Given the description of an element on the screen output the (x, y) to click on. 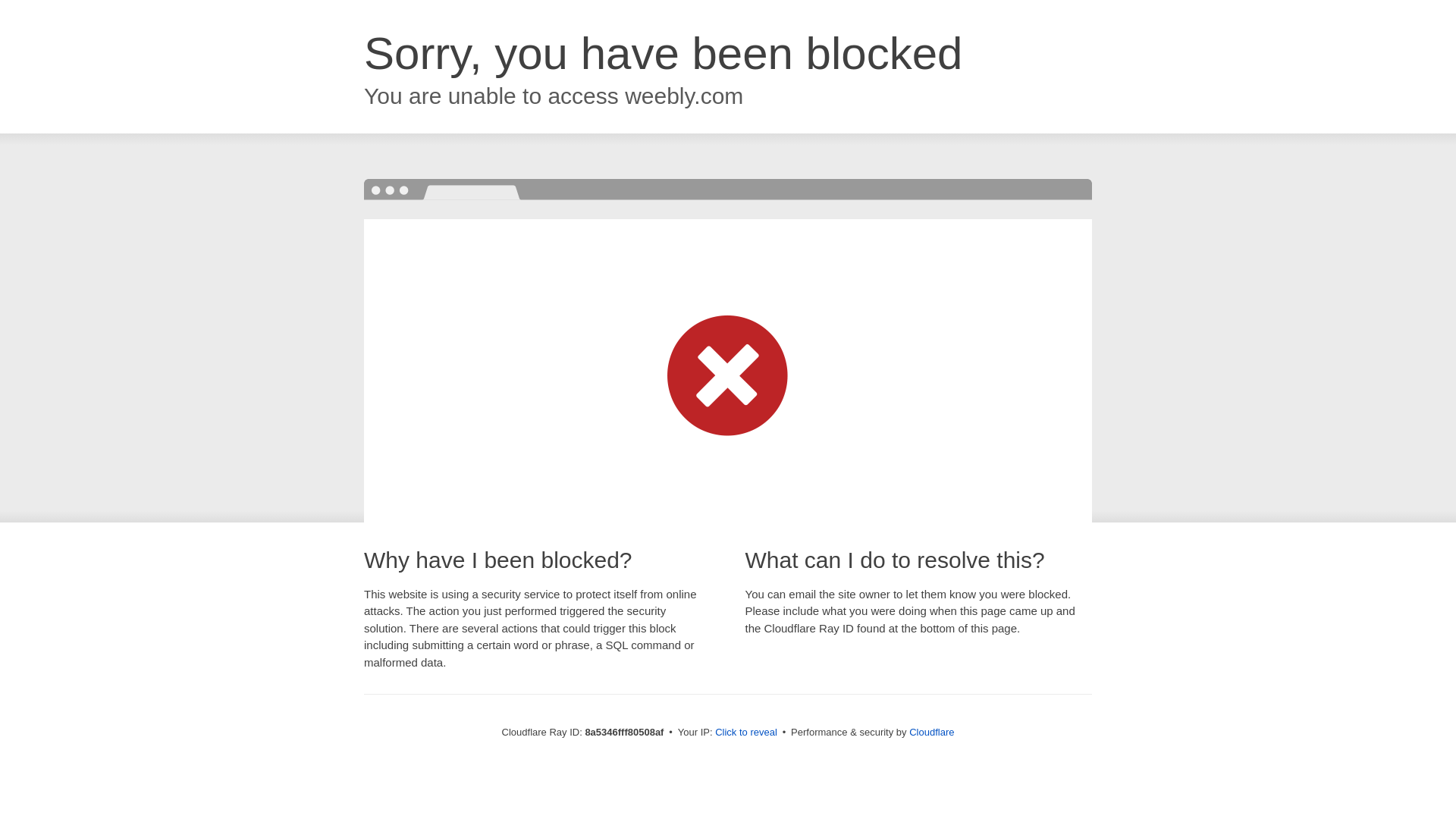
Click to reveal (745, 732)
Cloudflare (930, 731)
